Given the description of an element on the screen output the (x, y) to click on. 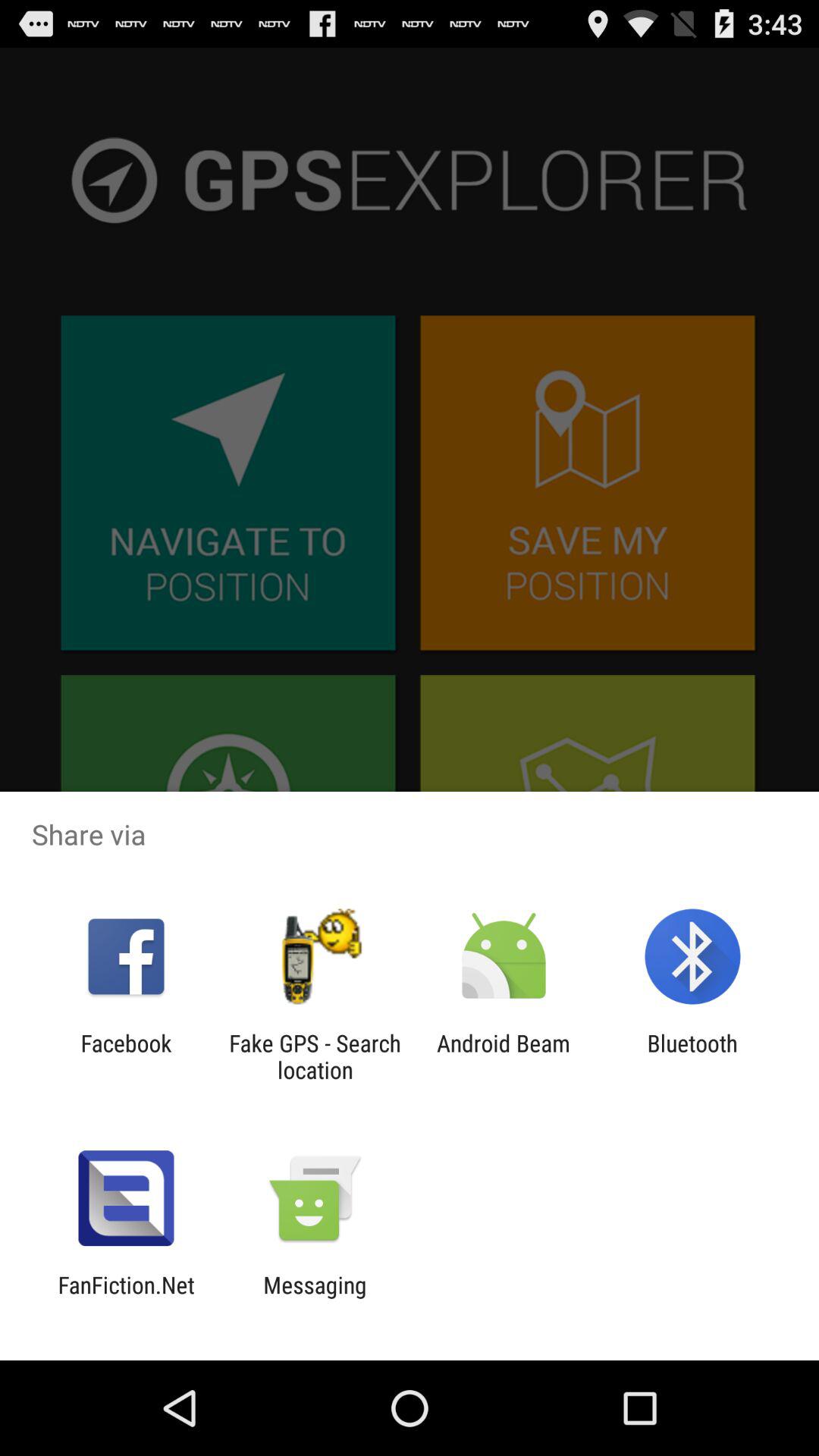
press the item next to facebook icon (314, 1056)
